Given the description of an element on the screen output the (x, y) to click on. 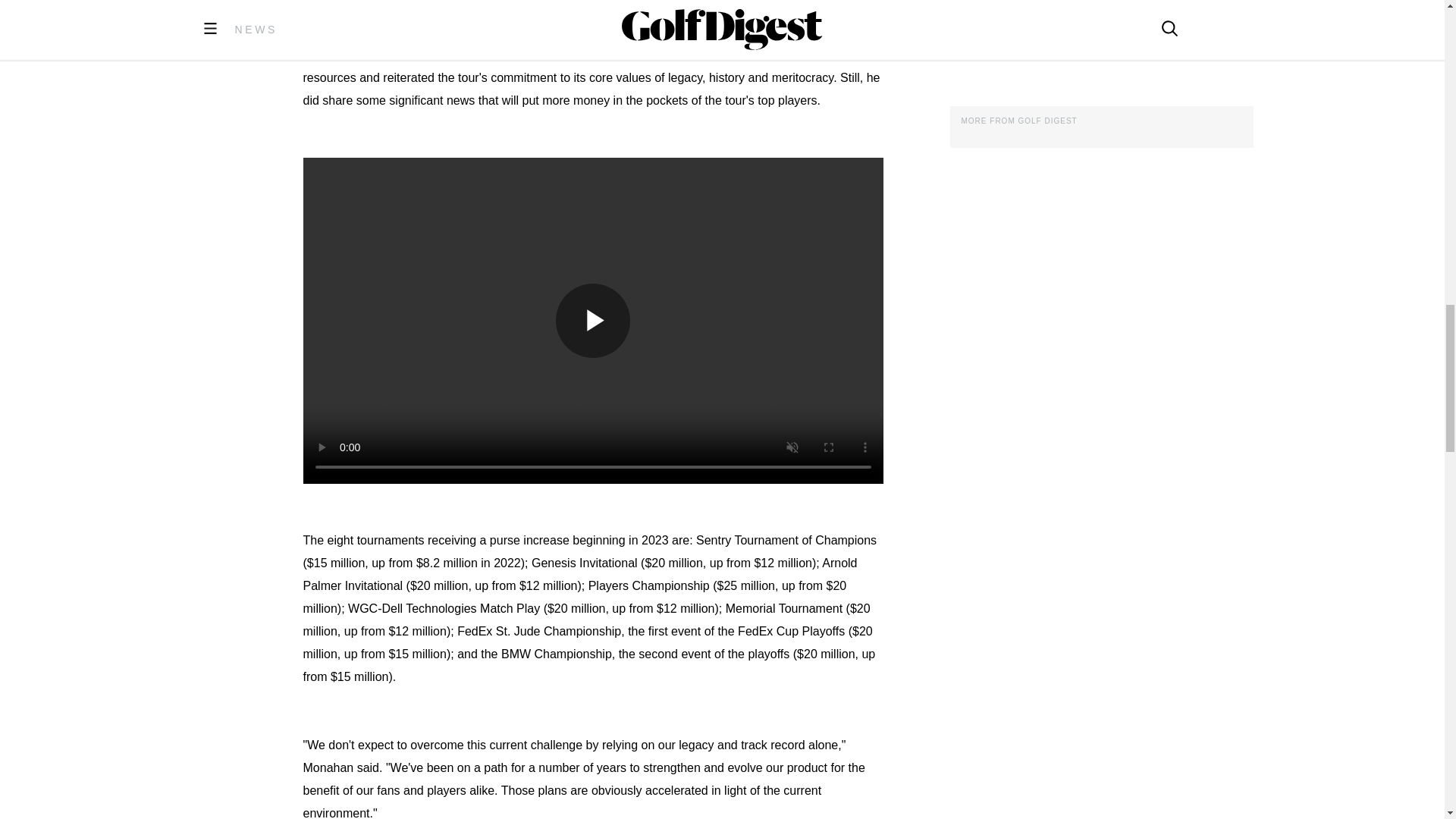
Play Video (593, 320)
